Given the description of an element on the screen output the (x, y) to click on. 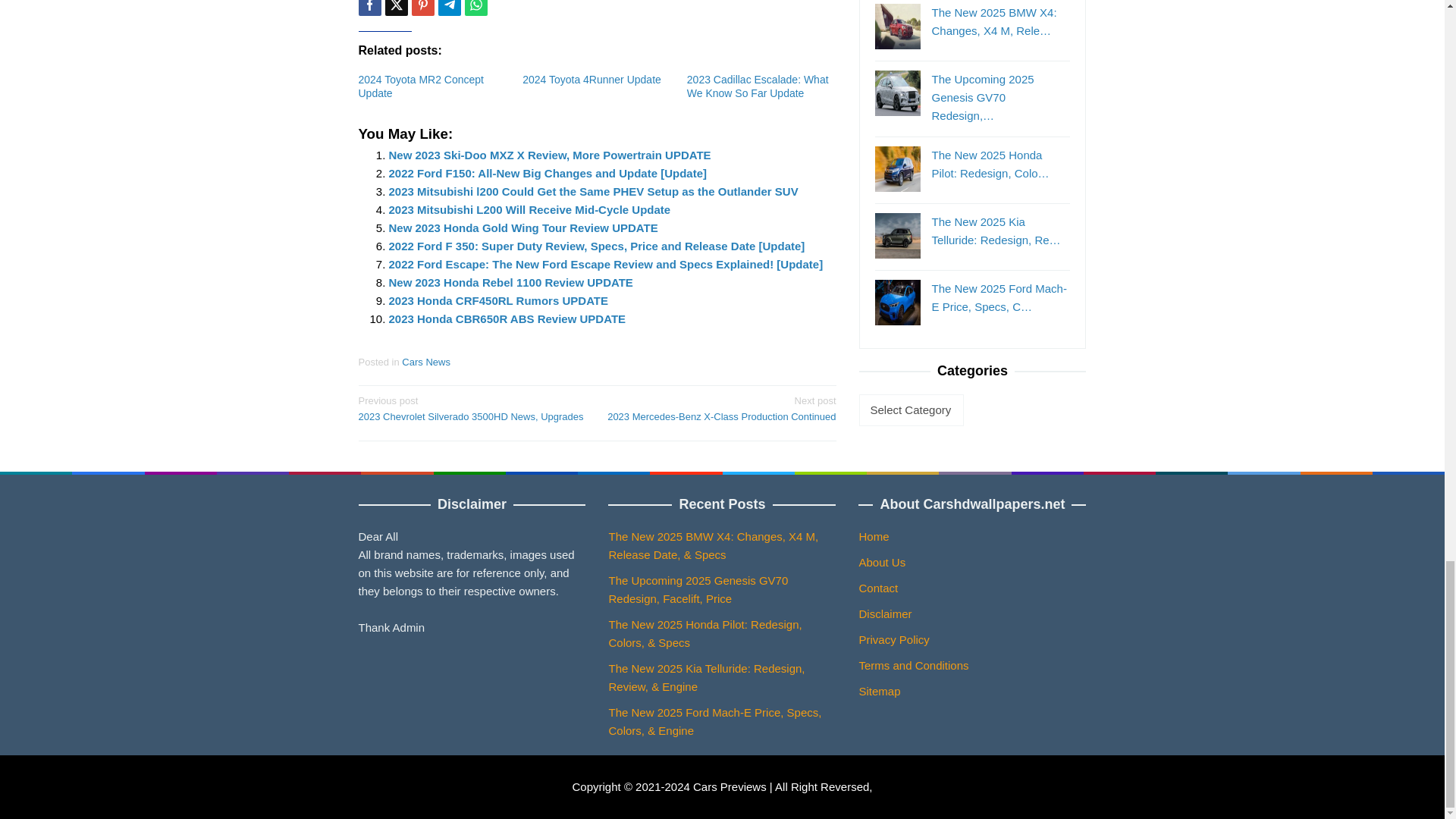
Tweet this (396, 7)
Share this (369, 7)
Telegram Share (449, 7)
Whatsapp (475, 7)
Pin this (421, 7)
